Given the description of an element on the screen output the (x, y) to click on. 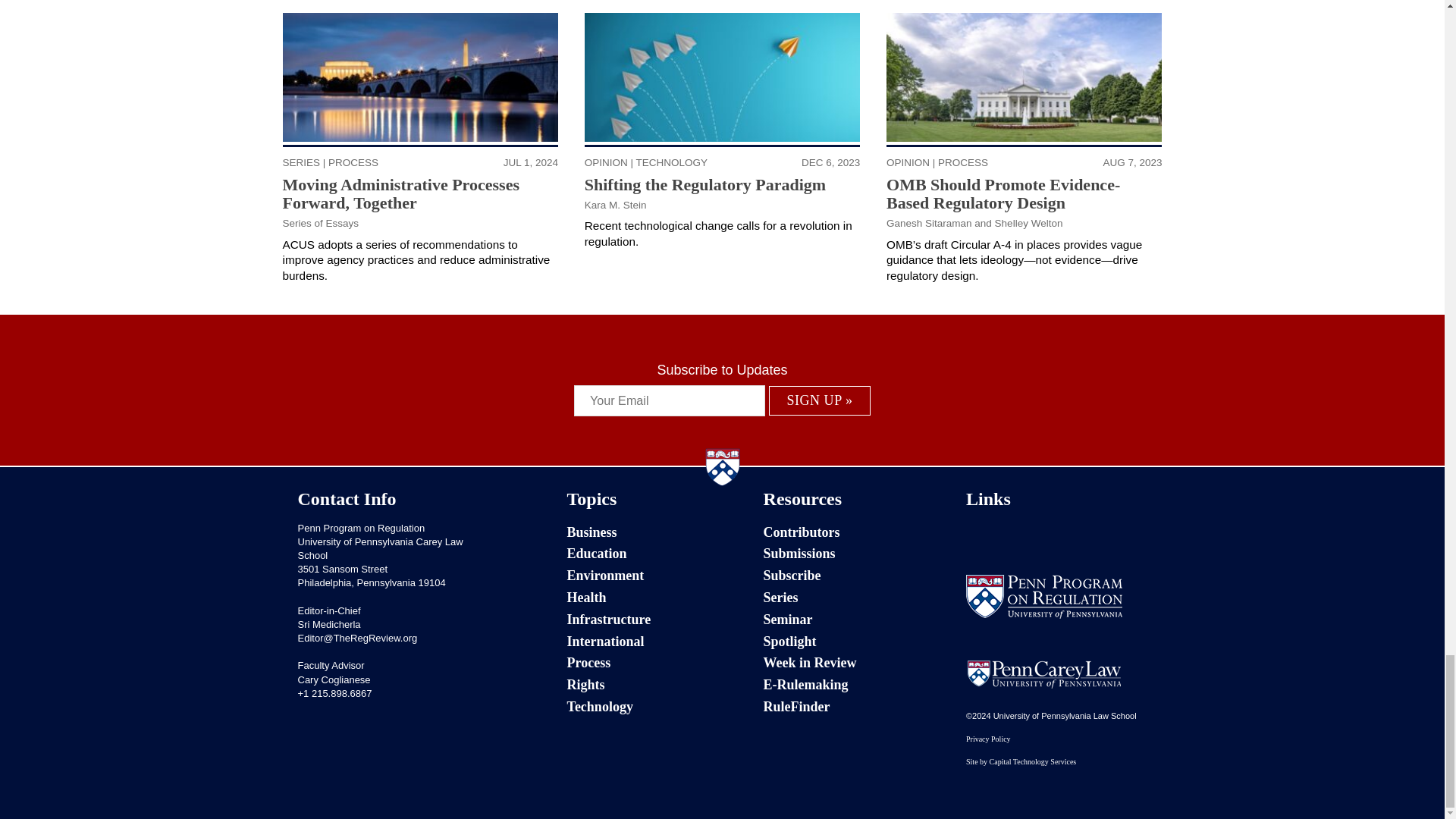
Posts by Series of Essays (320, 223)
Posts by Kara M. Stein (615, 204)
Posts by Ganesh Sitaraman (929, 223)
Posts by Shelley Welton (1028, 223)
